Given the description of an element on the screen output the (x, y) to click on. 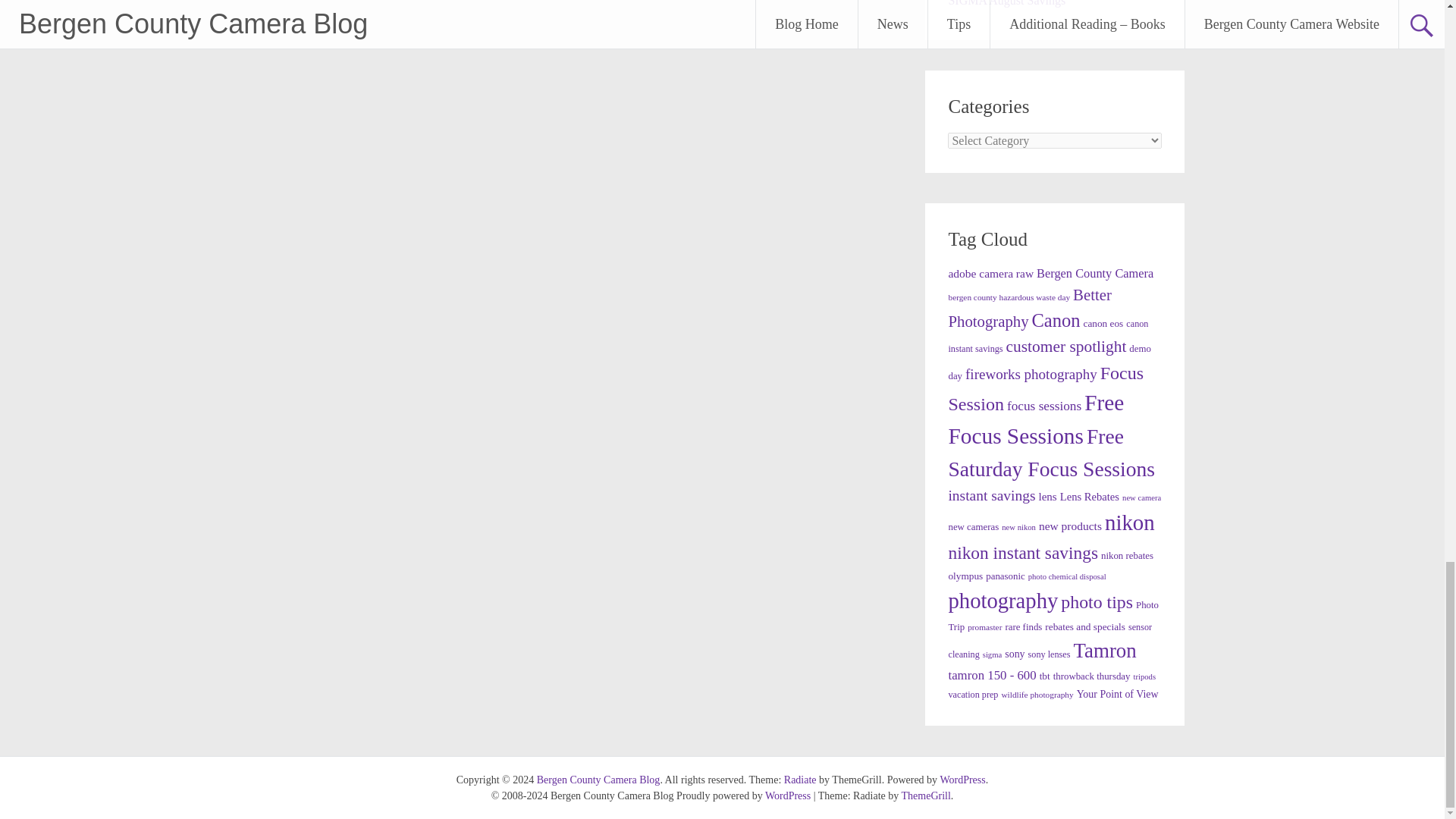
WordPress (962, 779)
Canon (1056, 320)
Bergen County Camera Blog (599, 779)
bergen county hazardous waste day (1008, 297)
SIGMA August Savings (1006, 3)
Better Photography (1028, 308)
adobe camera raw (990, 273)
Radiate (800, 779)
Bergen County Camera (1094, 273)
